Given the description of an element on the screen output the (x, y) to click on. 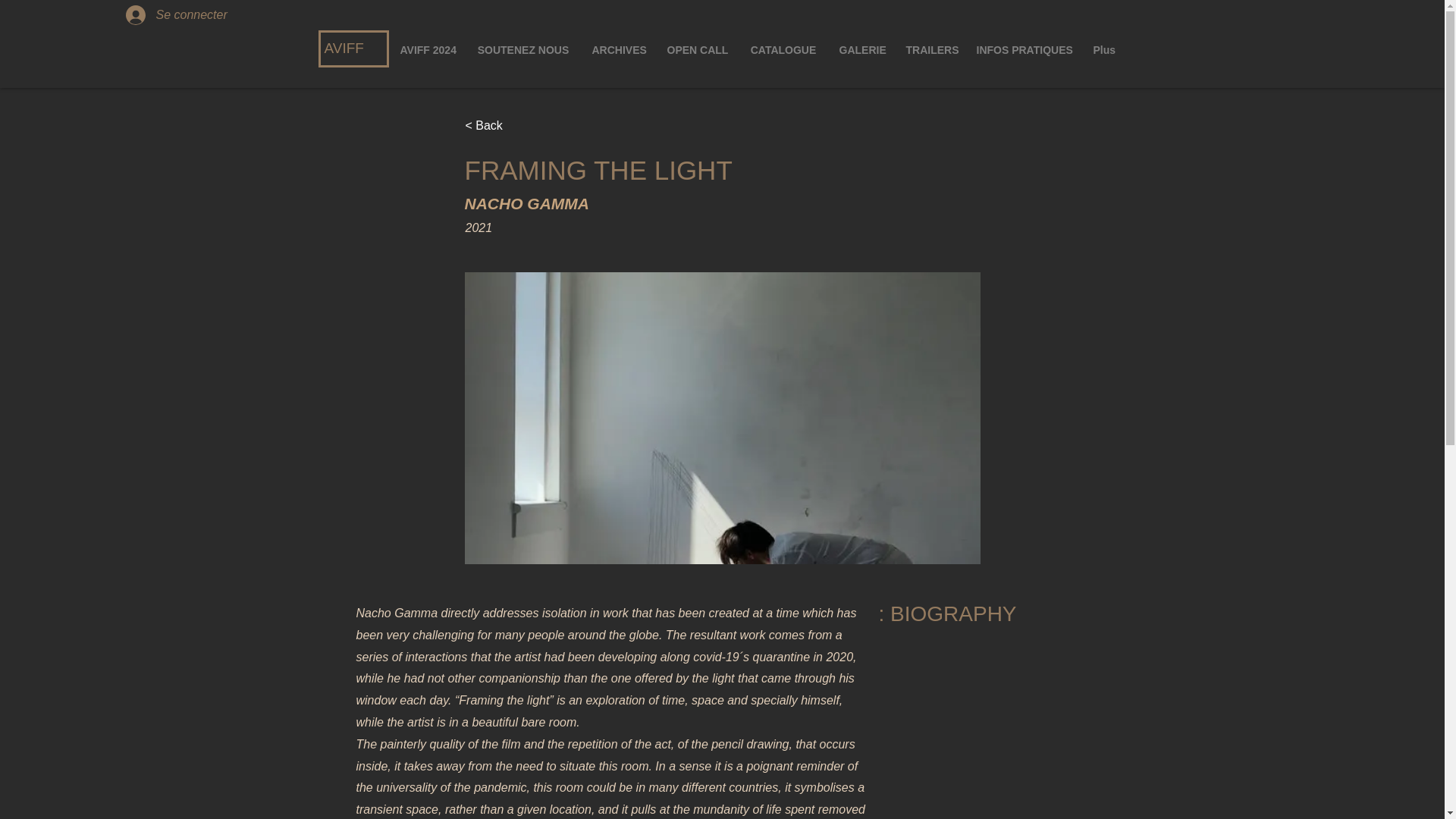
ARCHIVES (618, 50)
SOUTENEZ NOUS (522, 50)
GALERIE (861, 50)
TRAILERS (930, 50)
CATALOGUE (782, 50)
AVIFF 2024 (426, 50)
OPEN CALL (696, 50)
AVIFF (344, 48)
INFOS PRATIQUES (1022, 50)
Se connecter (160, 15)
